Given the description of an element on the screen output the (x, y) to click on. 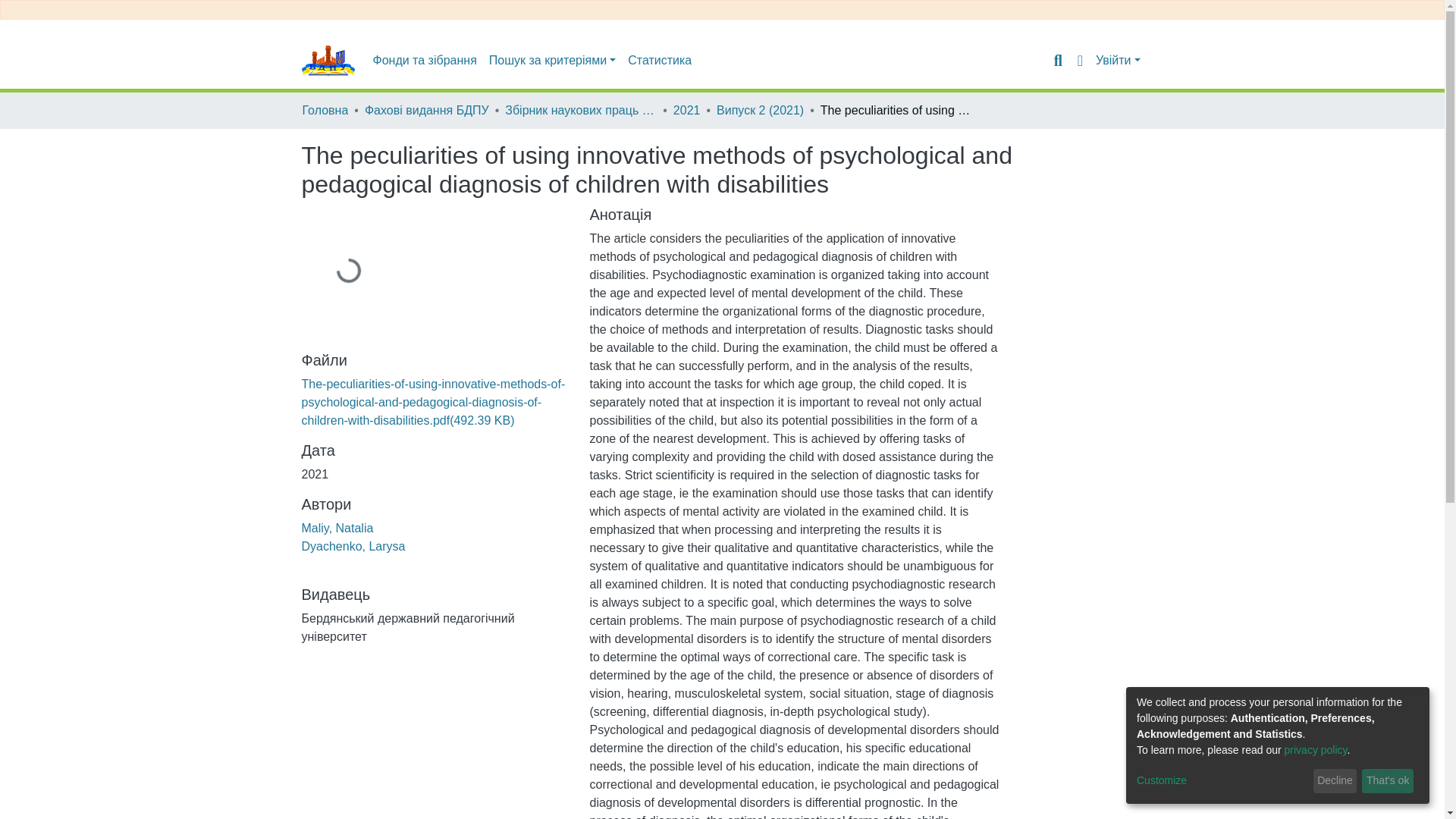
Customize (1222, 780)
privacy policy (1316, 749)
Maliy, Natalia (337, 527)
That's ok (1387, 781)
Decline (1334, 781)
2021 (686, 110)
Dyachenko, Larysa (353, 545)
